Given the description of an element on the screen output the (x, y) to click on. 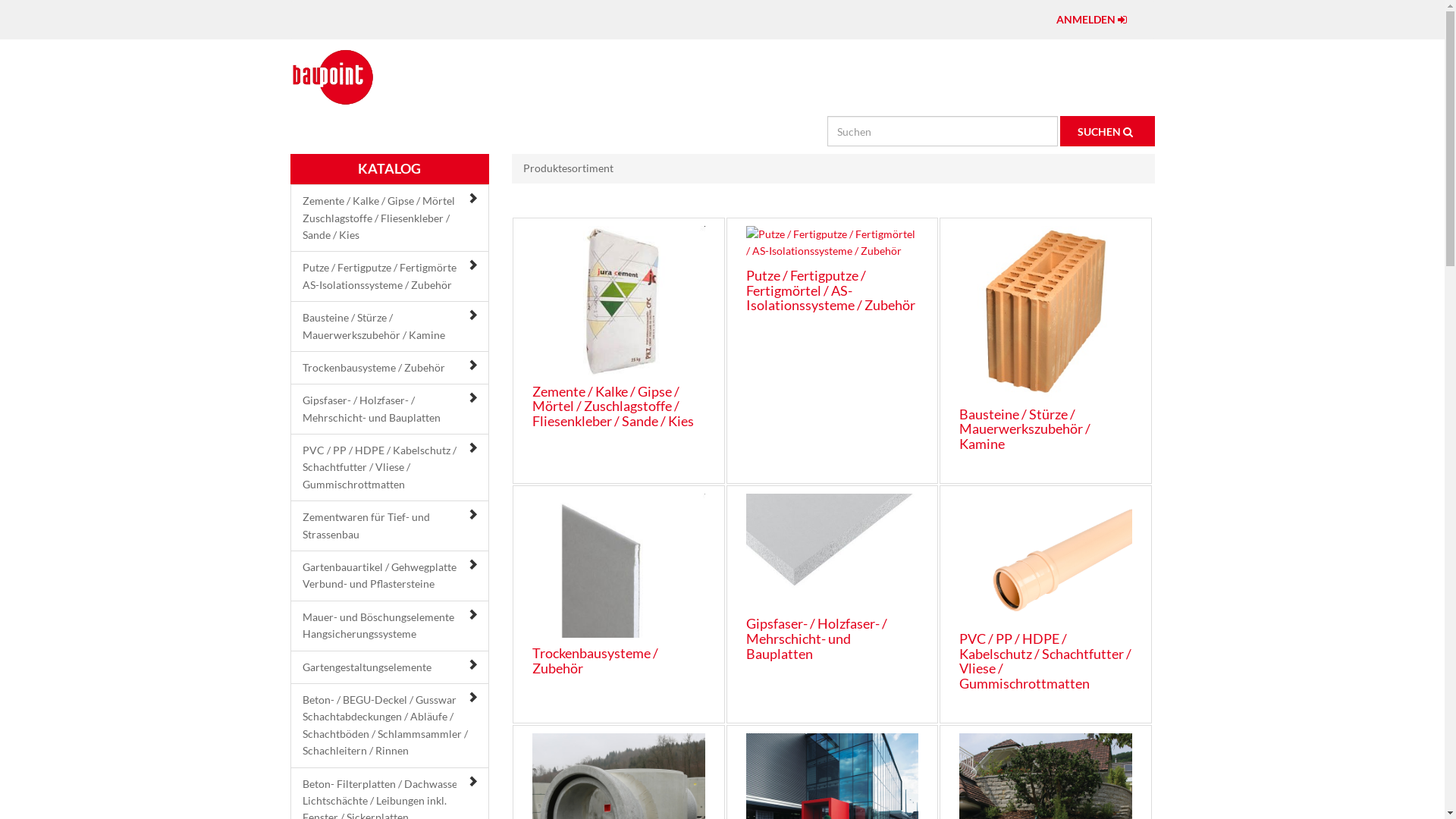
Gartengestaltungselemente Element type: text (365, 666)
Gipsfaser- / Holzfaser- / Mehrschicht- und Bauplatten Element type: text (370, 408)
Gipsfaser- / Holzfaser- / Mehrschicht- und Bauplatten Element type: text (816, 638)
ANMELDEN  Element type: text (1093, 19)
KATALOG Element type: text (389, 168)
SUCHEN  Element type: text (1107, 131)
